Given the description of an element on the screen output the (x, y) to click on. 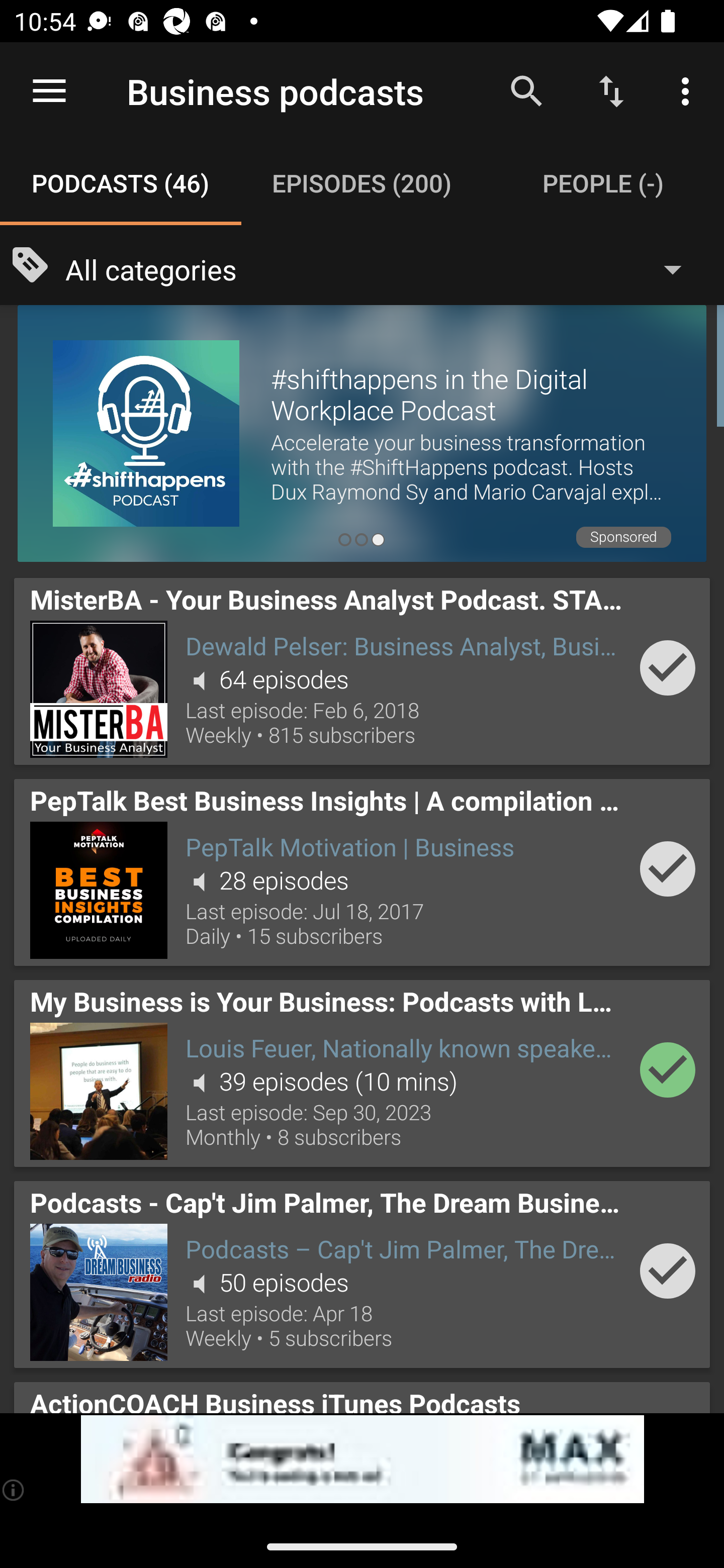
Open navigation sidebar (49, 91)
Search (526, 90)
Sort (611, 90)
More options (688, 90)
Episodes (200) EPISODES (200) (361, 183)
People (-) PEOPLE (-) (603, 183)
All categories (383, 268)
Add (667, 667)
Add (667, 868)
Add (667, 1069)
Add (667, 1271)
app-monetization (362, 1459)
(i) (14, 1489)
